Given the description of an element on the screen output the (x, y) to click on. 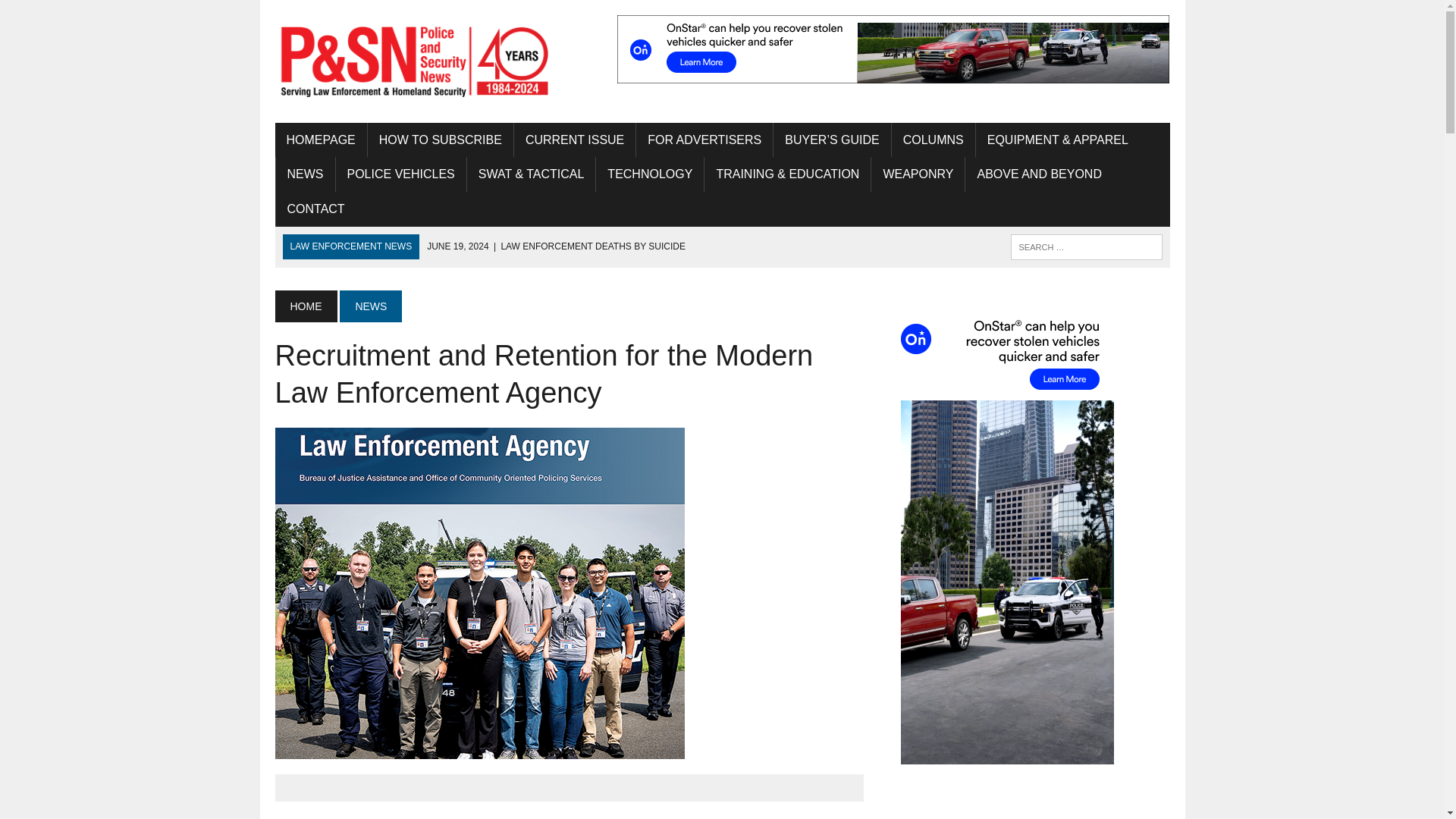
CURRENT ISSUE (573, 140)
HOW TO SUBSCRIBE (440, 140)
Police and Security News (416, 61)
FOR ADVERTISERS (704, 140)
HOMEPAGE (320, 140)
Law Enforcement Deaths by Suicide (555, 245)
